Given the description of an element on the screen output the (x, y) to click on. 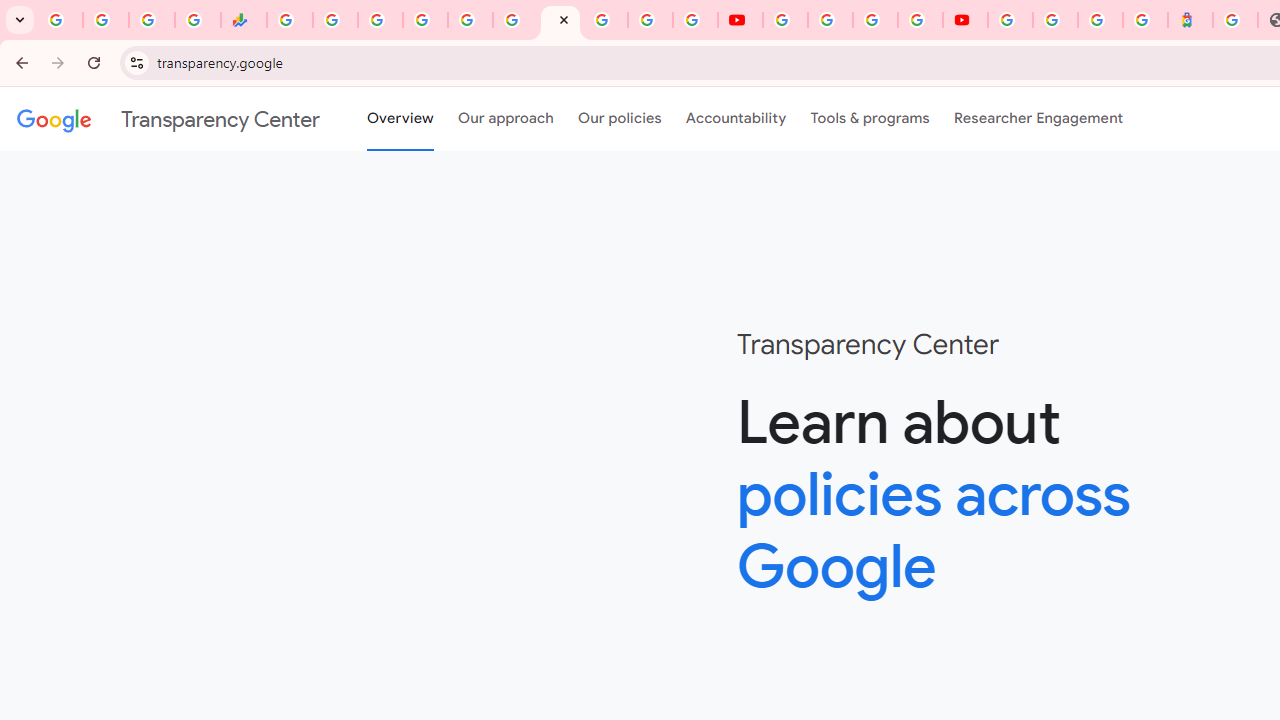
Transparency Center (167, 119)
Google Workspace Admin Community (60, 20)
Researcher Engagement (1038, 119)
Create your Google Account (875, 20)
Content Creator Programs & Opportunities - YouTube Creators (965, 20)
YouTube (784, 20)
Privacy Checkup (695, 20)
